Given the description of an element on the screen output the (x, y) to click on. 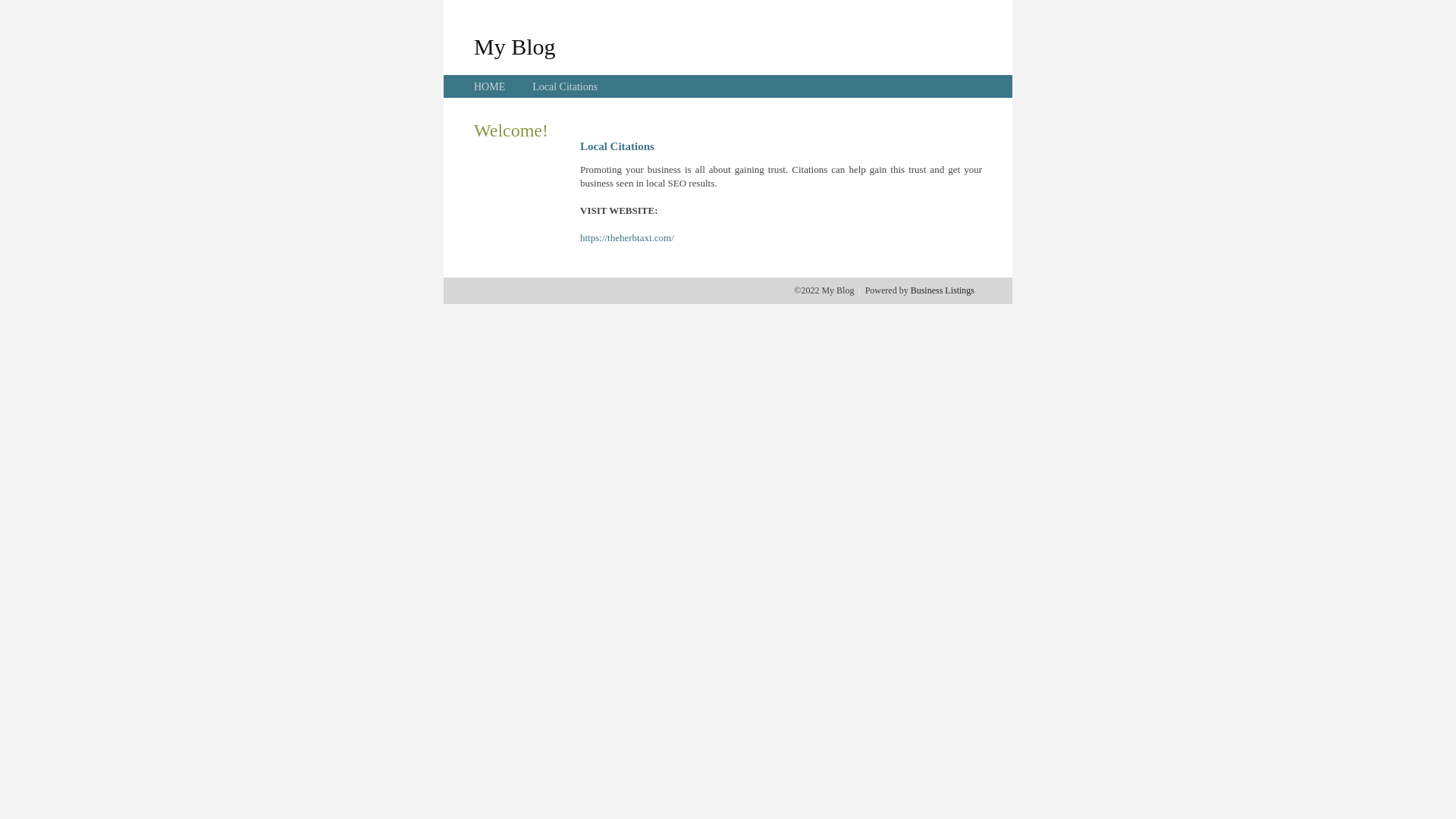
https://theherbtaxi.com/ Element type: text (627, 237)
HOME Element type: text (489, 86)
Business Listings Element type: text (942, 290)
Local Citations Element type: text (564, 86)
My Blog Element type: text (514, 46)
